Given the description of an element on the screen output the (x, y) to click on. 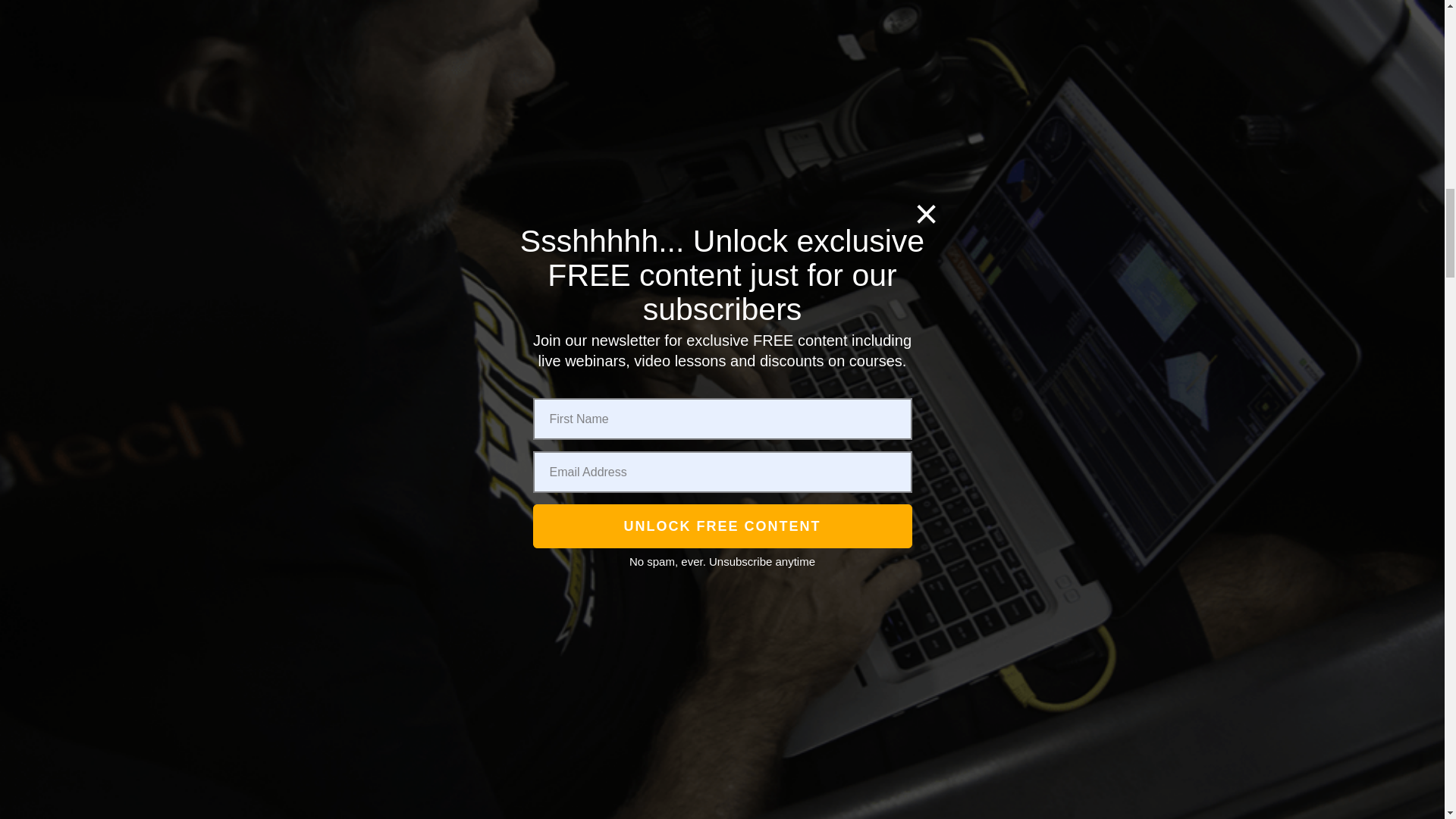
Click here to view NSMK3 (355, 258)
Click here to view NSMK3 (354, 713)
Click here to view NSMK3 (354, 191)
Click here to view NSMK3 (355, 780)
Click here to view Gord (355, 465)
Click here to view NSMK3 (355, 14)
Click here to view Gord (355, 398)
